Given the description of an element on the screen output the (x, y) to click on. 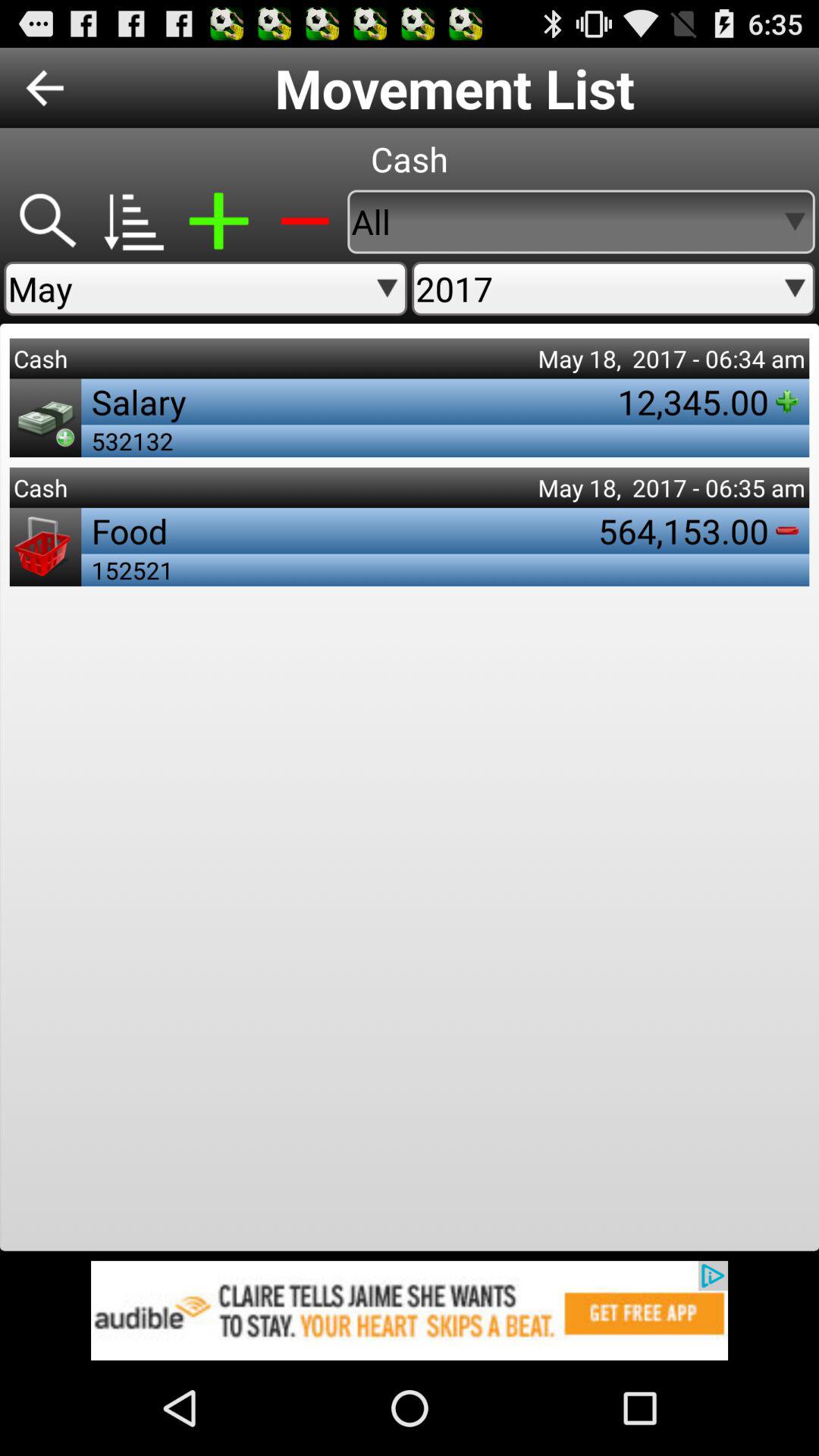
add money to movement list (218, 221)
